Given the description of an element on the screen output the (x, y) to click on. 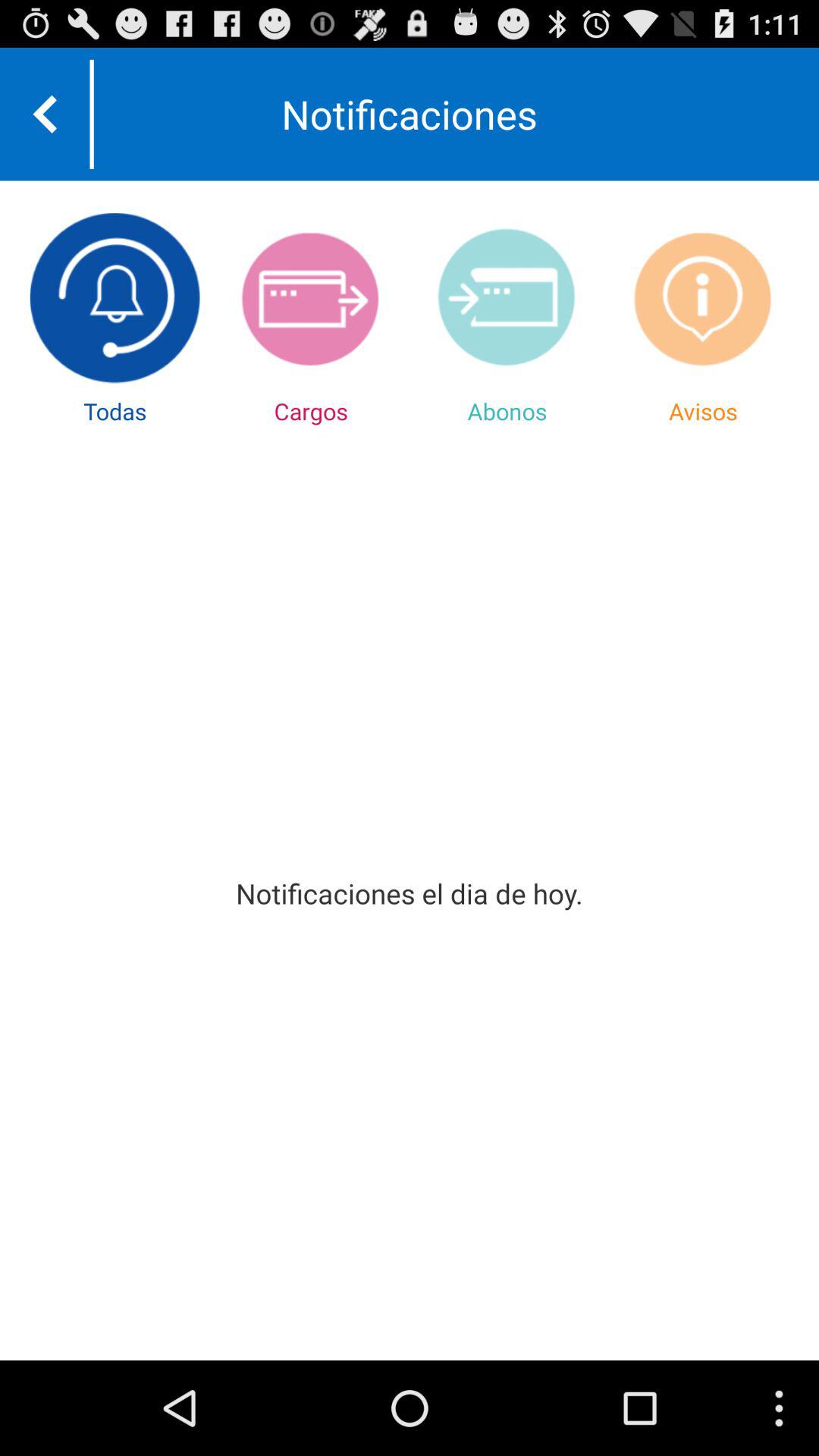
go to previous menu (44, 113)
